Given the description of an element on the screen output the (x, y) to click on. 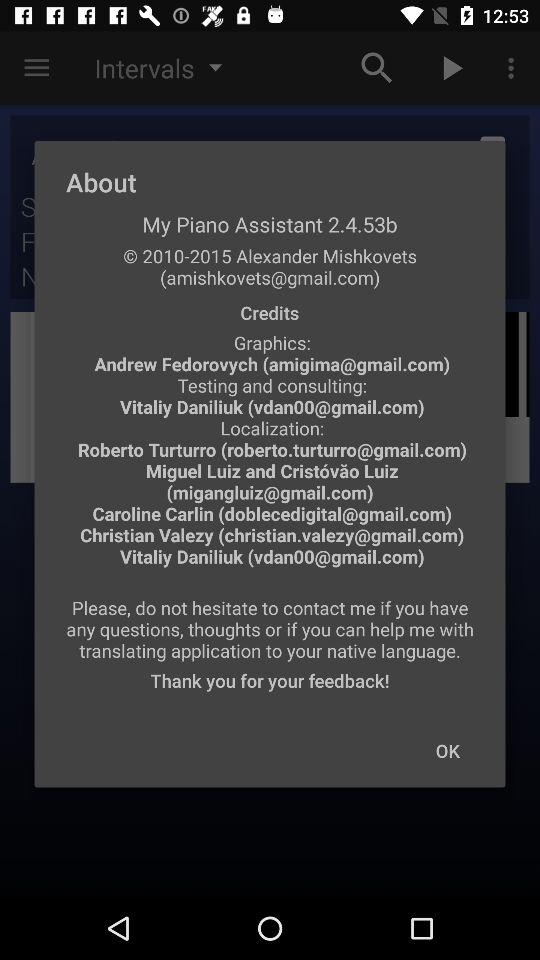
swipe to the ok (447, 750)
